Given the description of an element on the screen output the (x, y) to click on. 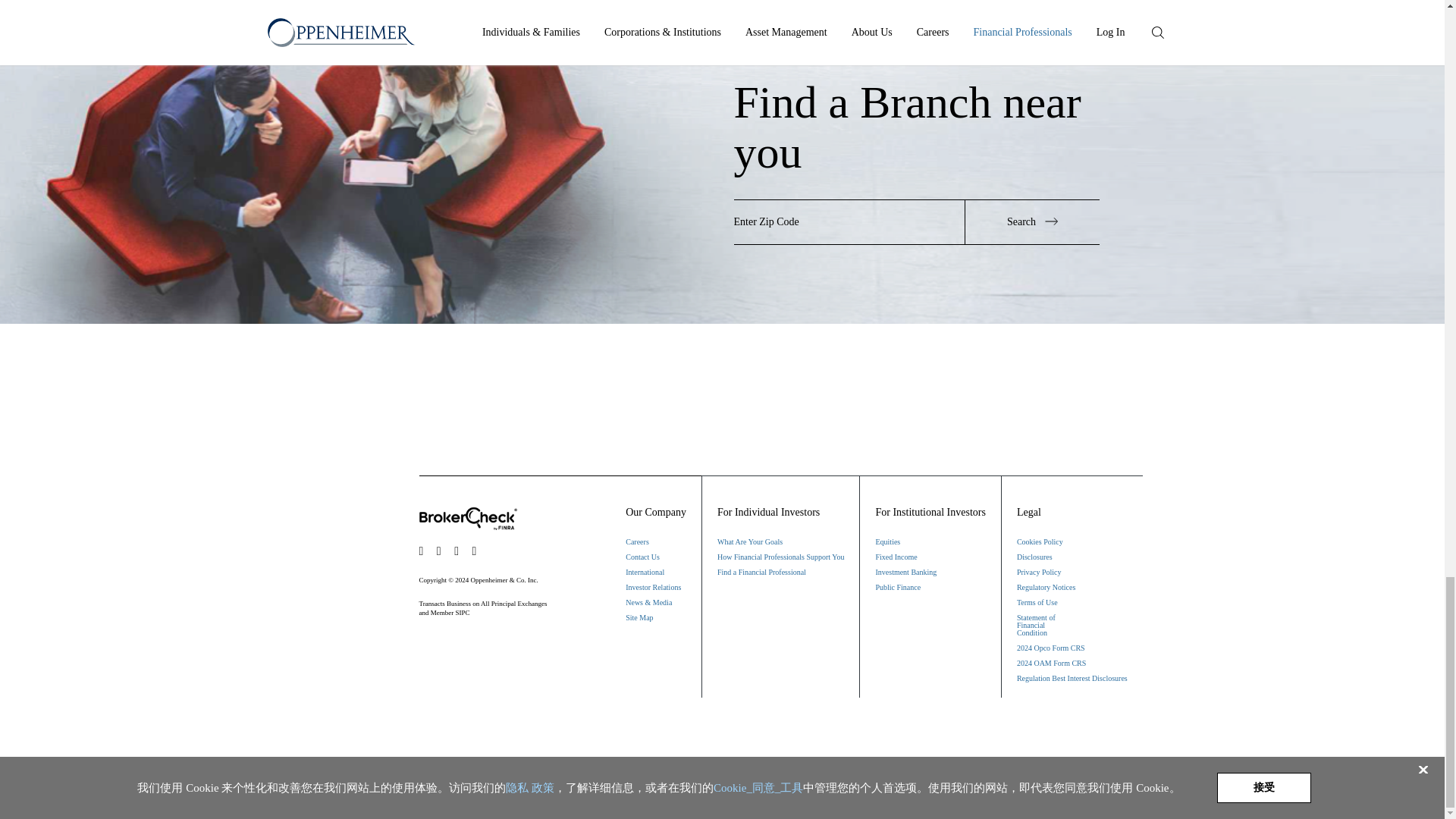
Facebook (424, 551)
Enter Zip Code (849, 221)
Linkenin (459, 551)
Vimeo (477, 551)
Twitter (442, 551)
